Given the description of an element on the screen output the (x, y) to click on. 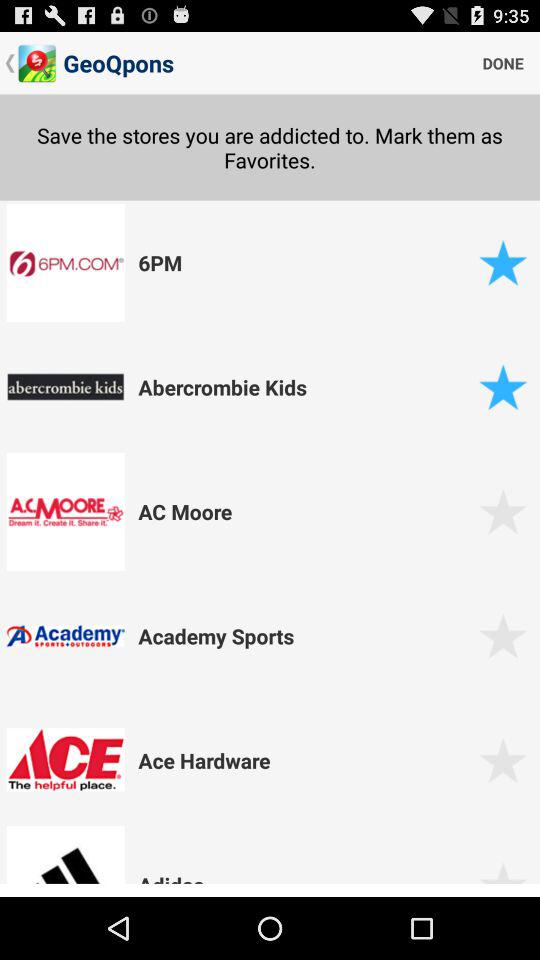
launch the done icon (503, 62)
